Given the description of an element on the screen output the (x, y) to click on. 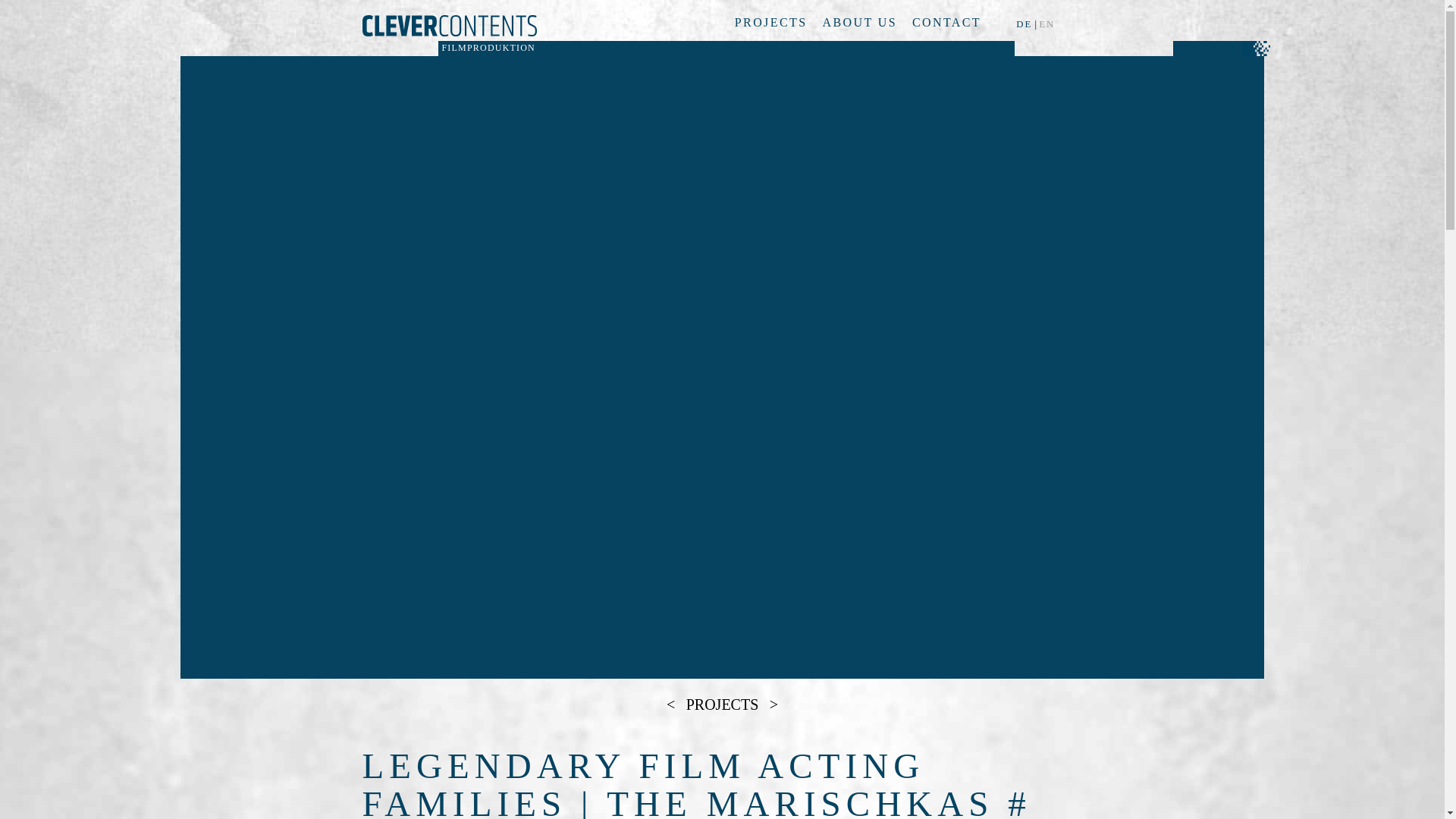
PROJECTS (721, 704)
DE (1025, 24)
CONTACT (946, 21)
PROJECTS (771, 21)
ABOUT US (859, 21)
EN (1048, 24)
